Given the description of an element on the screen output the (x, y) to click on. 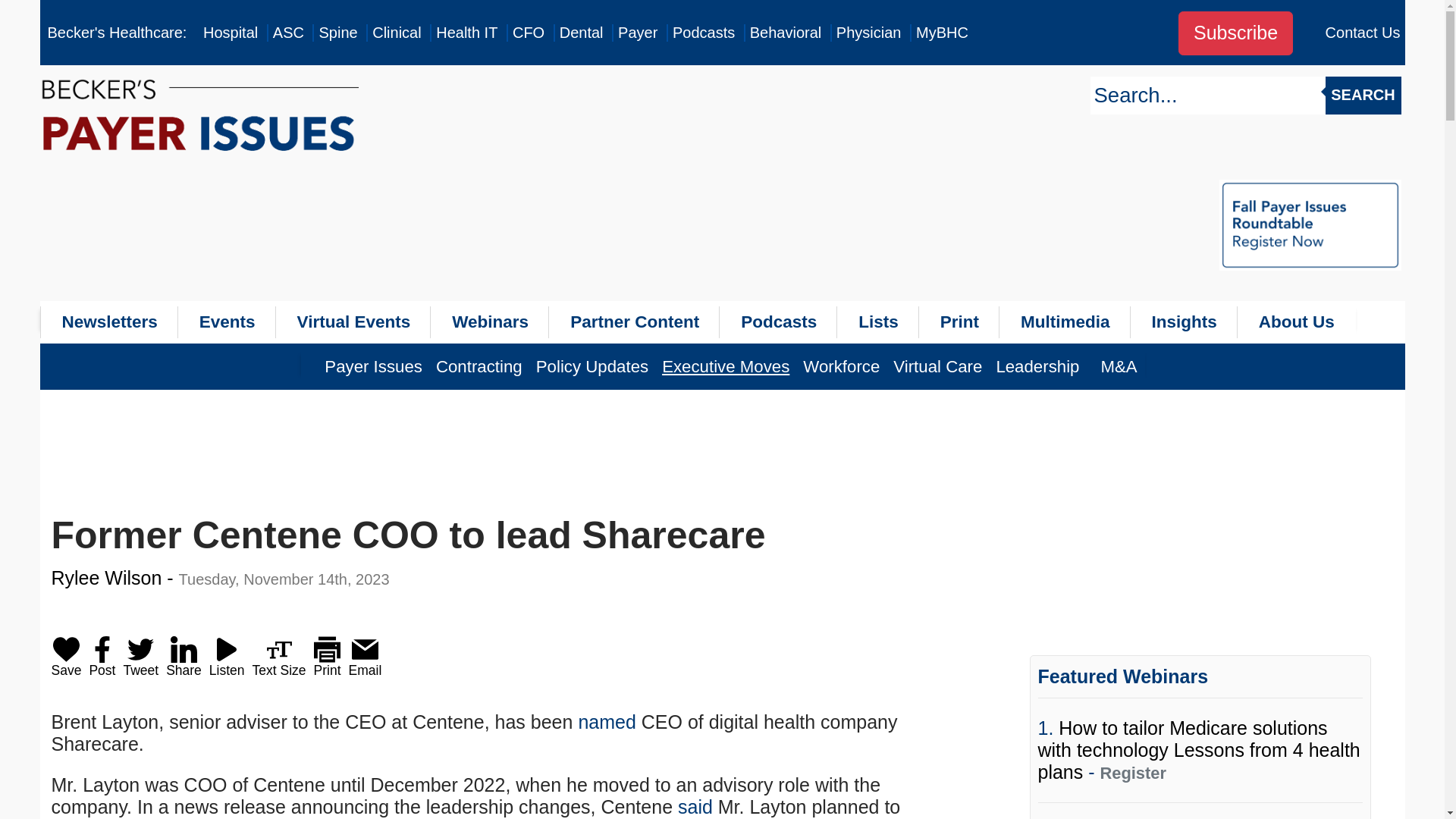
Becker's Spine Review (337, 32)
MyBHC (941, 32)
Payer (637, 32)
Dental (581, 32)
Subscribe (1234, 33)
Health IT (466, 32)
Becker's Health IT (466, 32)
Becker's Hospital Review (230, 32)
Becker's CFO (528, 32)
Becker's Behavioral Health (785, 32)
